Given the description of an element on the screen output the (x, y) to click on. 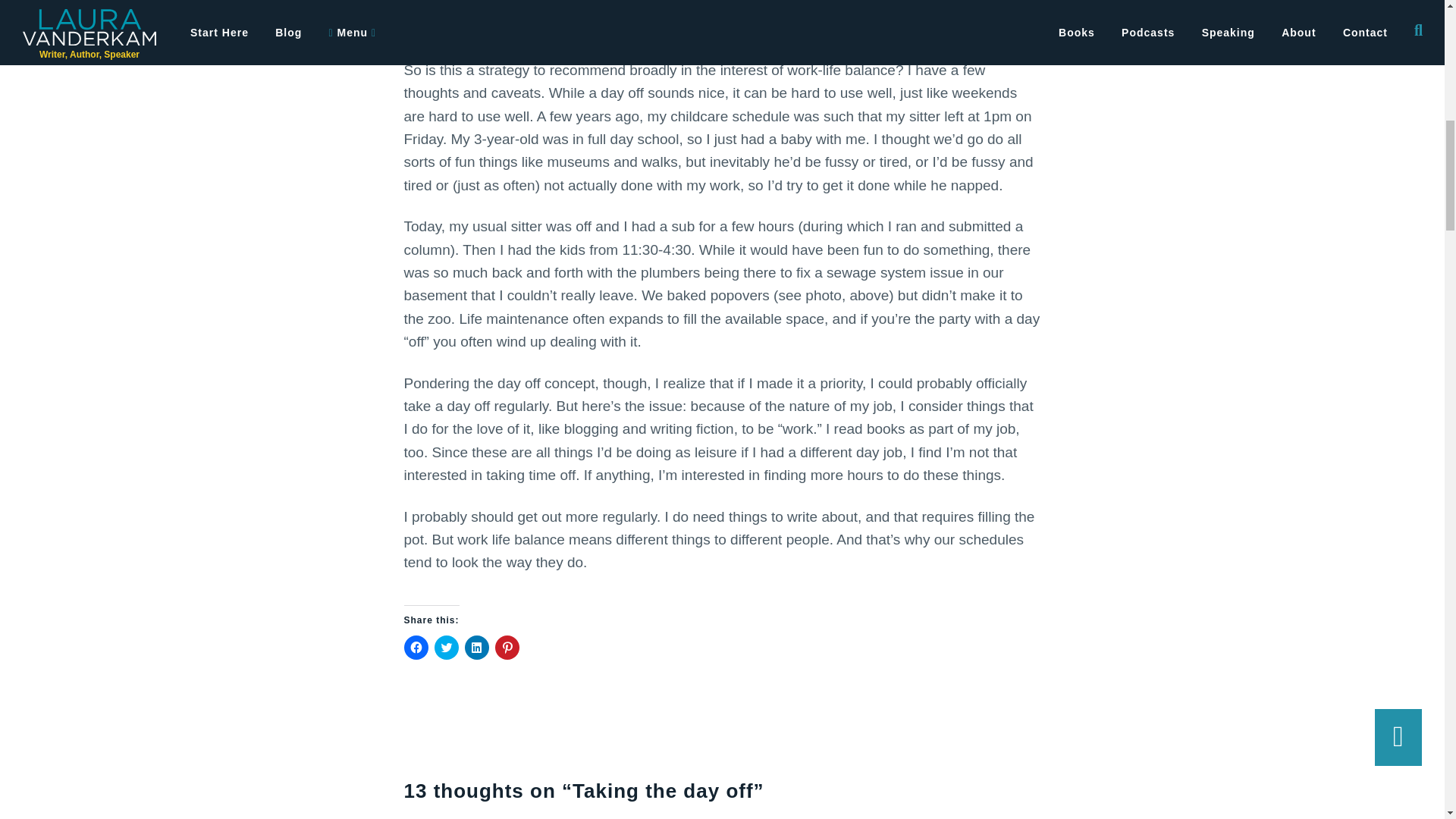
Click to share on Pinterest (506, 647)
Click to share on LinkedIn (475, 647)
Click to share on Facebook (415, 647)
Click to share on Twitter (445, 647)
